Given the description of an element on the screen output the (x, y) to click on. 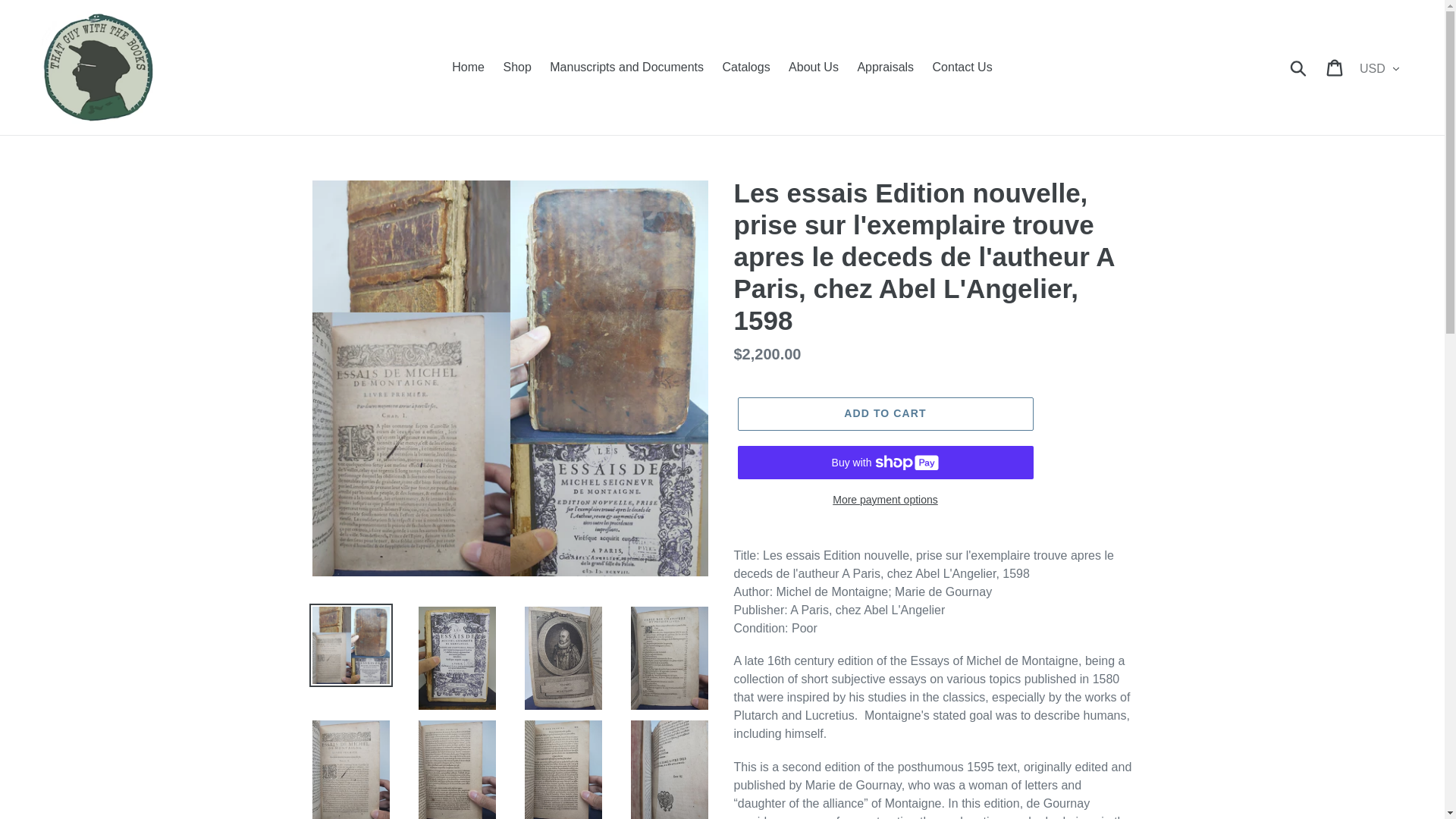
More payment options (884, 499)
Contact Us (962, 67)
Shop (516, 67)
Appraisals (884, 67)
Cart (1335, 67)
Home (468, 67)
About Us (812, 67)
ADD TO CART (884, 413)
Catalogs (745, 67)
Manuscripts and Documents (626, 67)
